Given the description of an element on the screen output the (x, y) to click on. 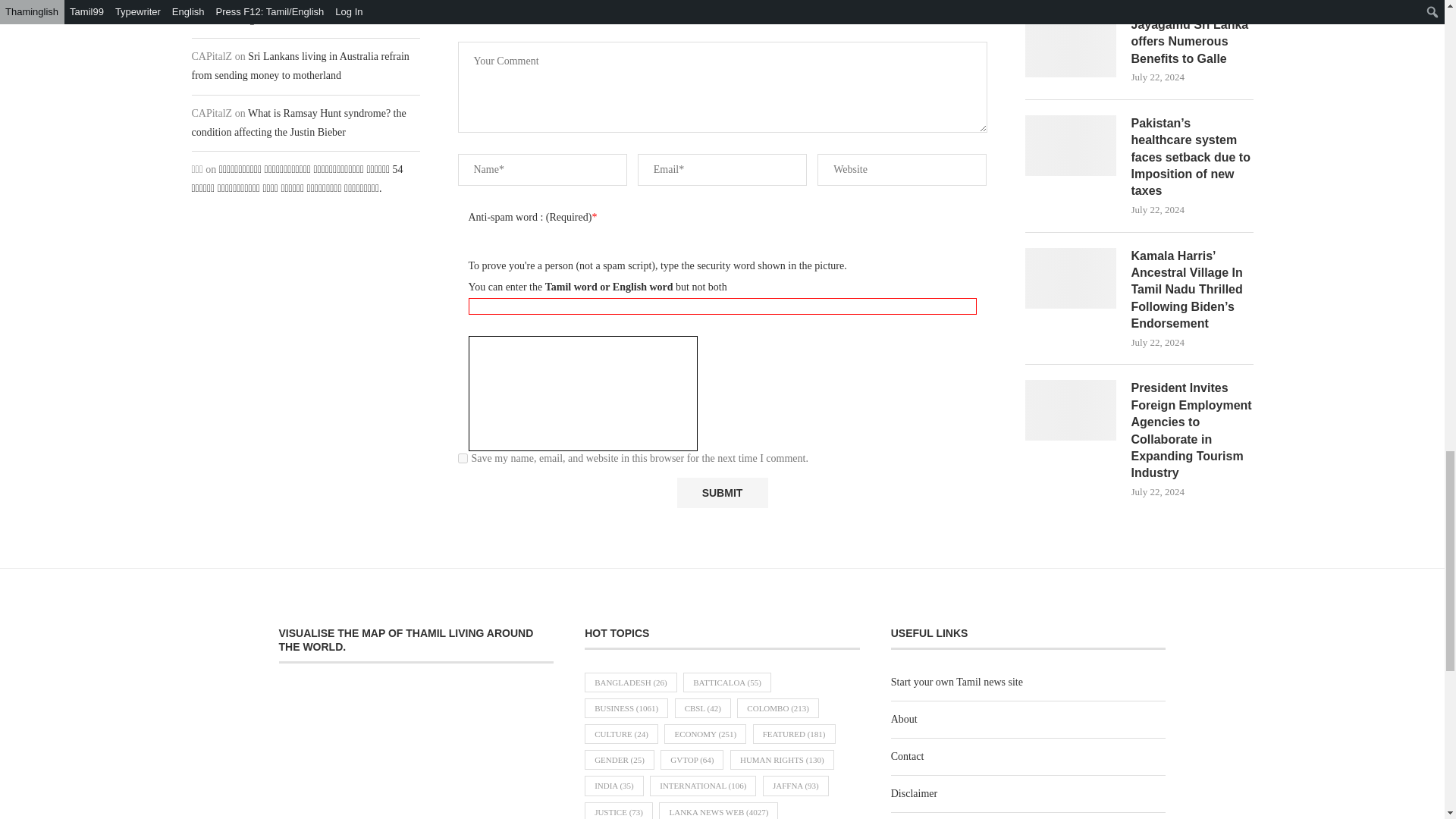
yes (462, 458)
Submit (722, 492)
Submit (722, 492)
